Given the description of an element on the screen output the (x, y) to click on. 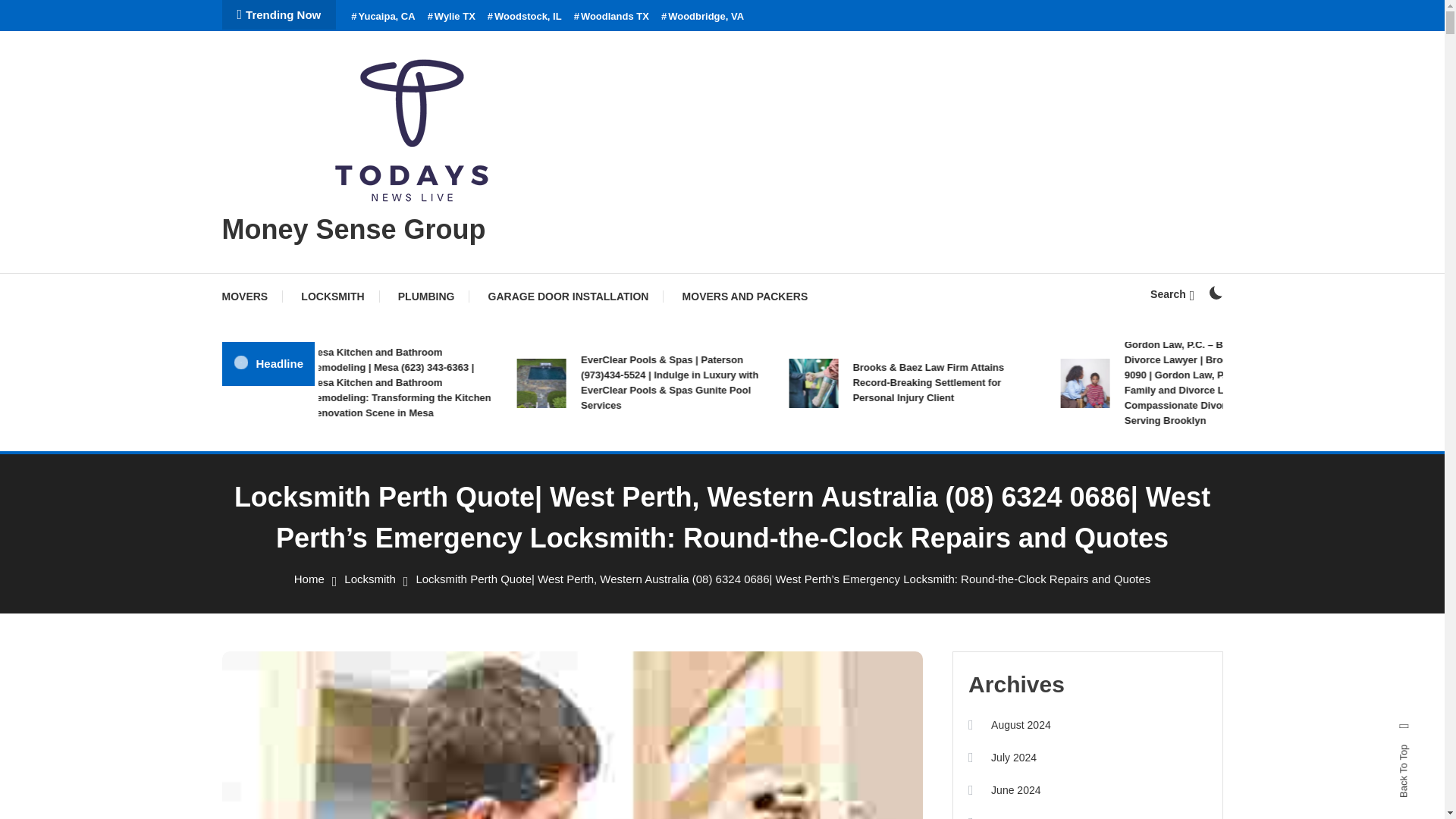
Locksmith (369, 578)
Yucaipa, CA (382, 16)
Home (309, 578)
PLUMBING (426, 296)
Money Sense Group (352, 228)
Woodstock, IL (524, 16)
GARAGE DOOR INSTALLATION (568, 296)
MOVERS (251, 296)
MOVERS AND PACKERS (745, 296)
Woodlands TX (611, 16)
